Given the description of an element on the screen output the (x, y) to click on. 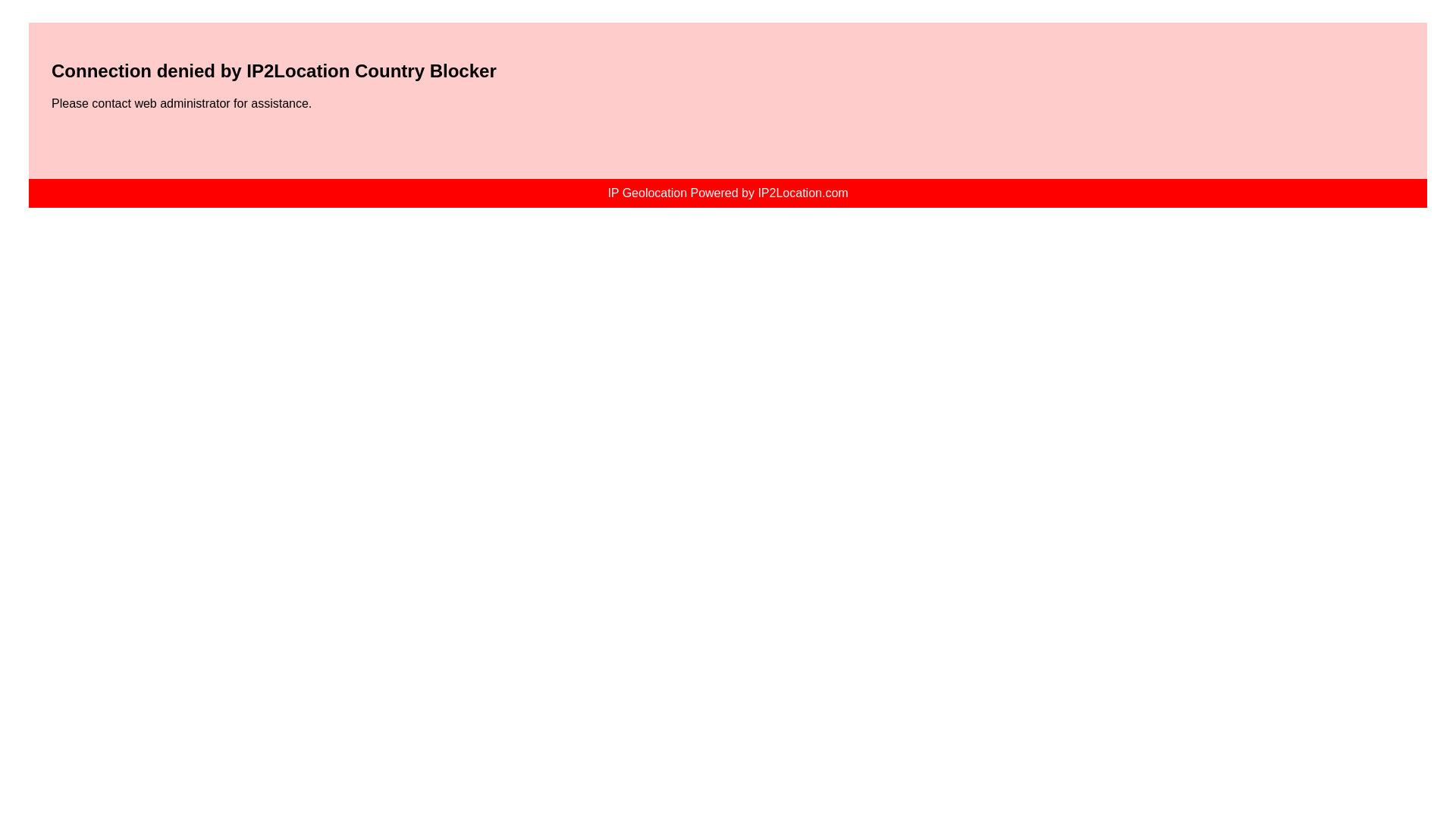
IP Geolocation Powered by IP2Location.com (727, 192)
